Given the description of an element on the screen output the (x, y) to click on. 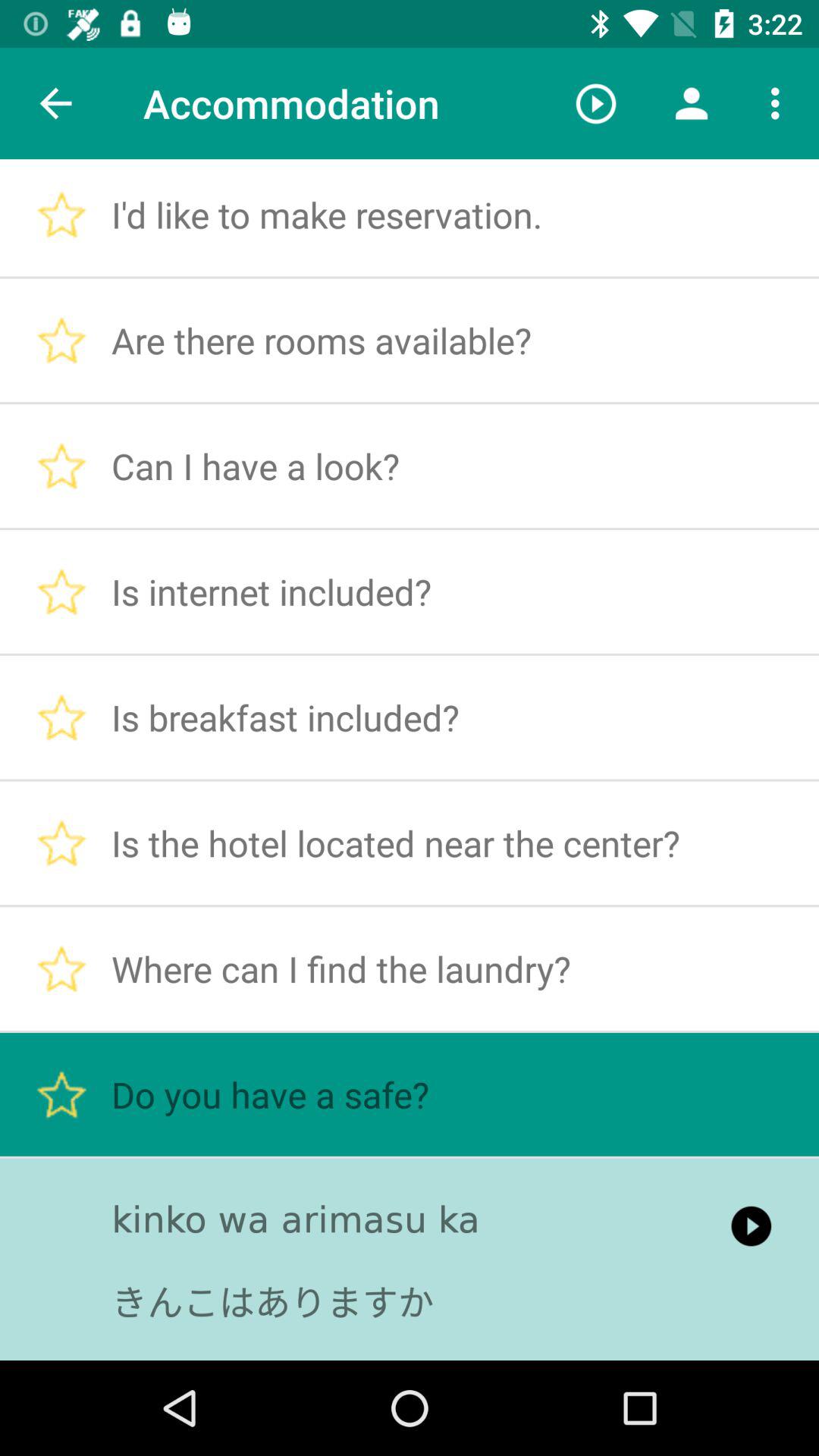
turn off item at the bottom right corner (751, 1226)
